Given the description of an element on the screen output the (x, y) to click on. 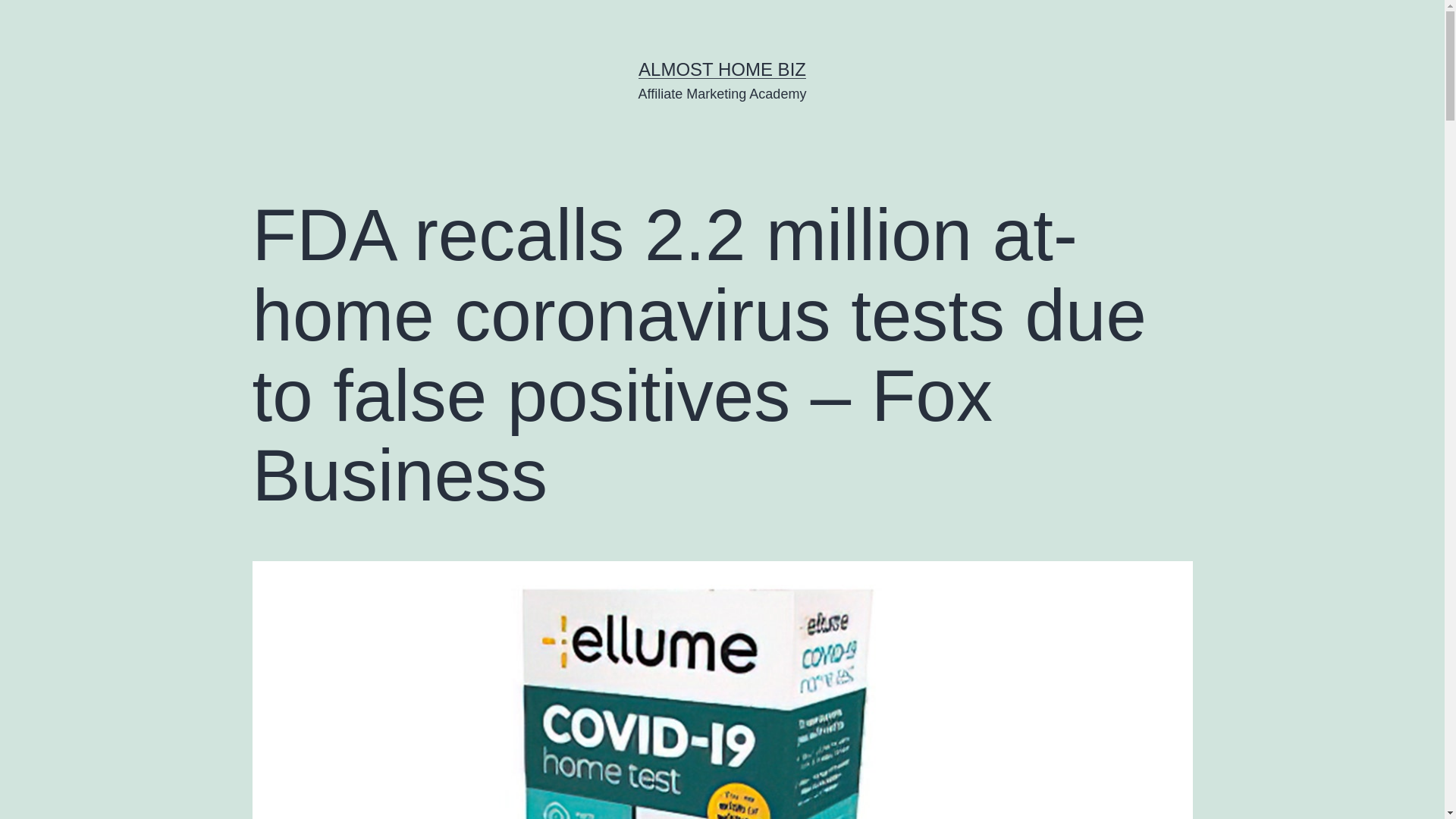
ALMOST HOME BIZ (722, 68)
